Given the description of an element on the screen output the (x, y) to click on. 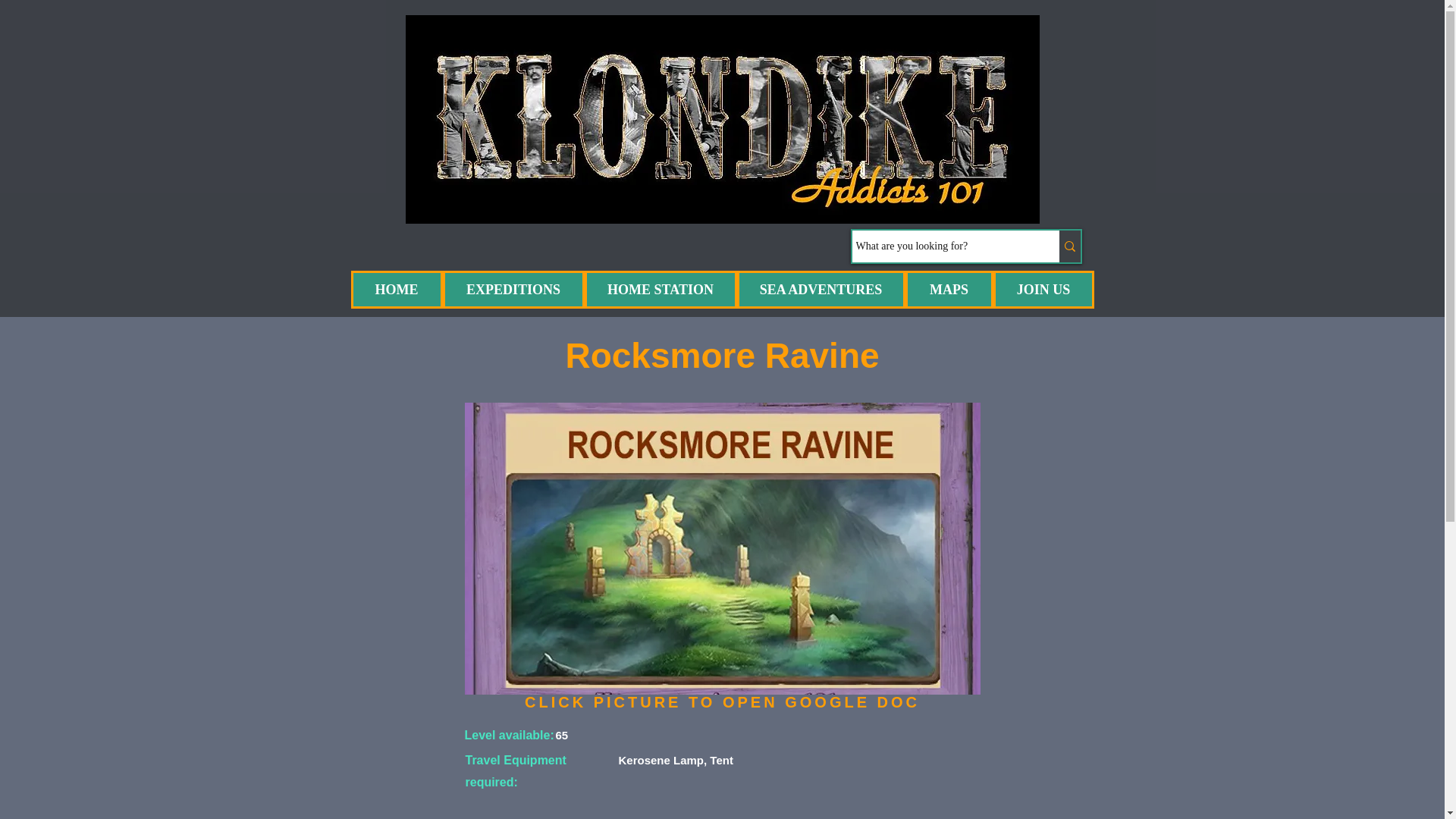
HOME STATION (659, 289)
EXPEDITIONS (513, 289)
JOIN US (1043, 289)
HOME (396, 289)
MAPS (948, 289)
